Given the description of an element on the screen output the (x, y) to click on. 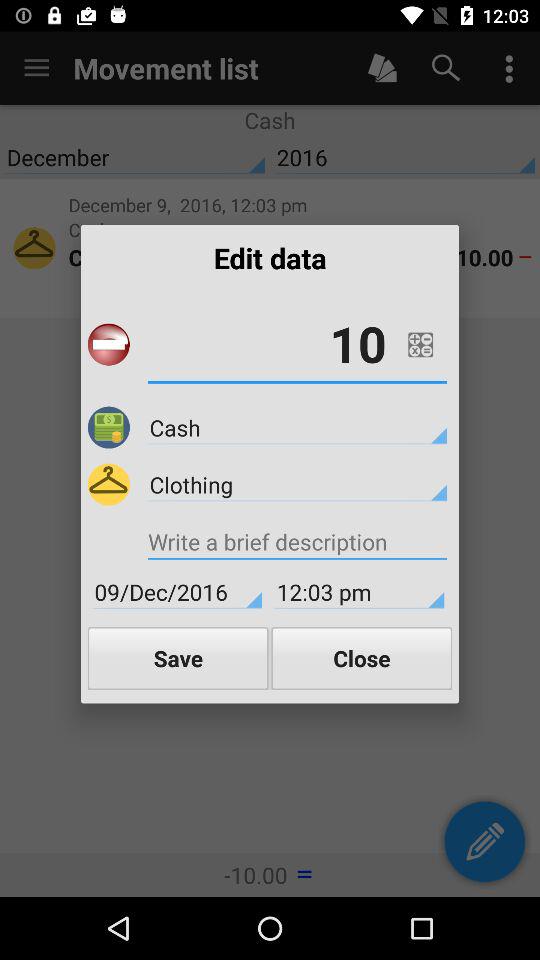
turn on the icon to the left of close item (177, 658)
